Given the description of an element on the screen output the (x, y) to click on. 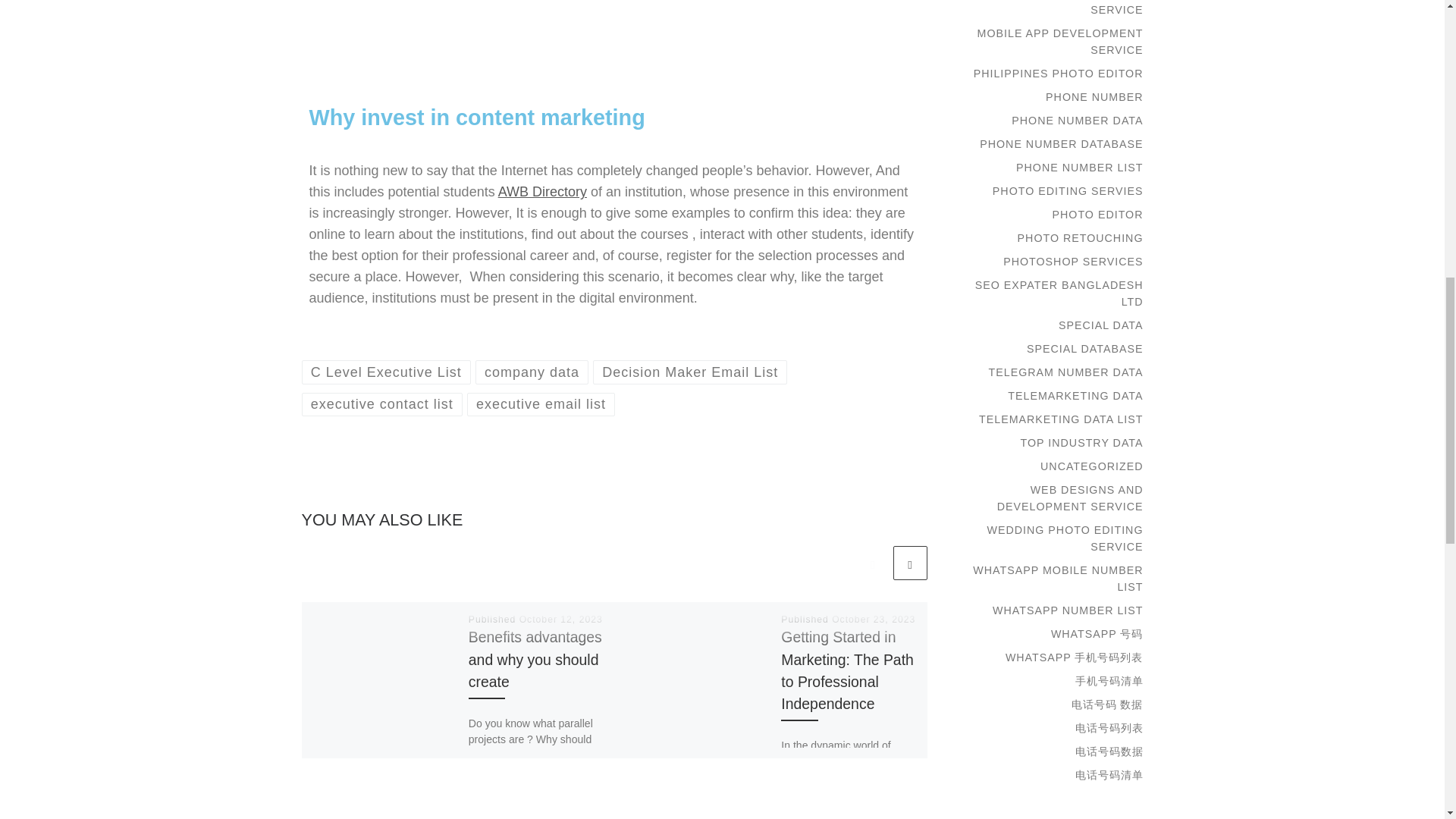
View all posts in company data (532, 372)
View all posts in C Level Executive List (386, 372)
Previous related articles (872, 562)
executive contact list (382, 404)
View all posts in executive email list (541, 404)
View all posts in executive contact list (382, 404)
company data (532, 372)
Decision Maker Email List (689, 372)
October 12, 2023 (560, 619)
Benefits advantages and why you should create (535, 658)
